Given the description of an element on the screen output the (x, y) to click on. 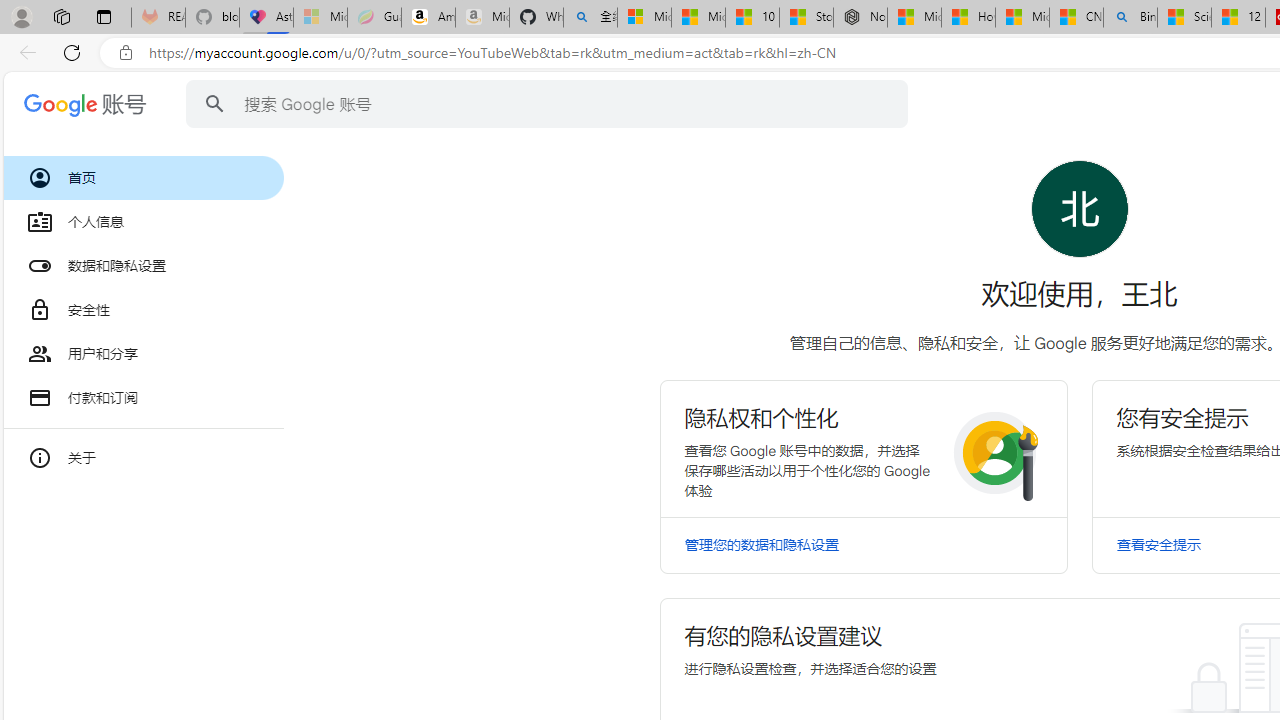
CNN - MSN (1076, 17)
Class: RlFDUe N5YmOc kJXJmd bvW4md I6g62c (863, 448)
